Given the description of an element on the screen output the (x, y) to click on. 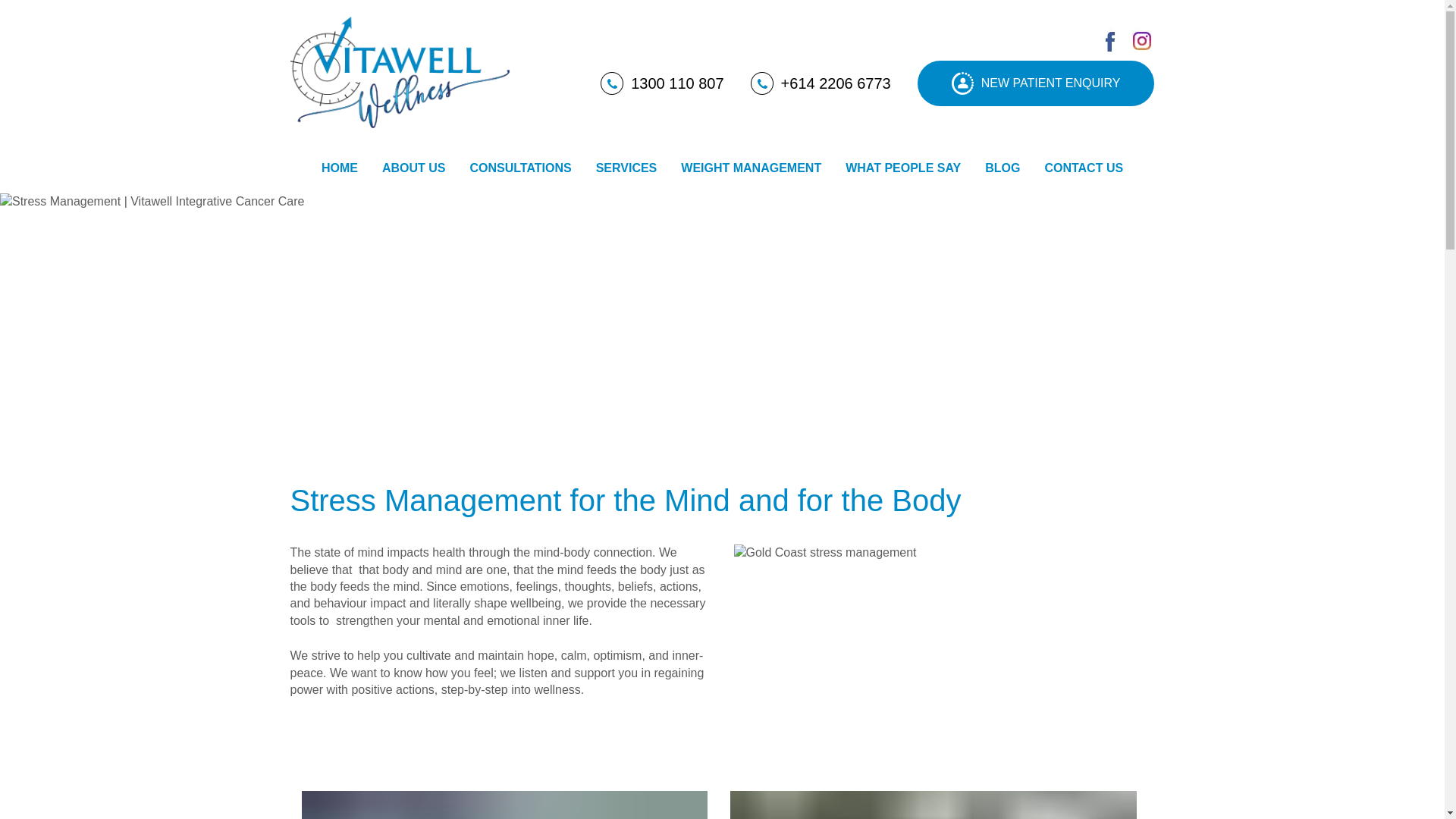
Gold Coast stress management (943, 644)
1300 110 807 (661, 83)
New patient enquiry (1035, 83)
WHAT PEOPLE SAY (902, 168)
WEIGHT MANAGEMENT (750, 168)
Call us (661, 83)
Good sleep hygiene is protective of you. (933, 805)
Call us (821, 83)
SERVICES (626, 168)
NEW PATIENT ENQUIRY (1035, 83)
Vitawell (399, 71)
CONTACT US (1083, 168)
CONSULTATIONS (520, 168)
ABOUT US (413, 168)
HOW DO WE BRING SELF-AWARENESS IN OUR LIVES? (504, 805)
